Given the description of an element on the screen output the (x, y) to click on. 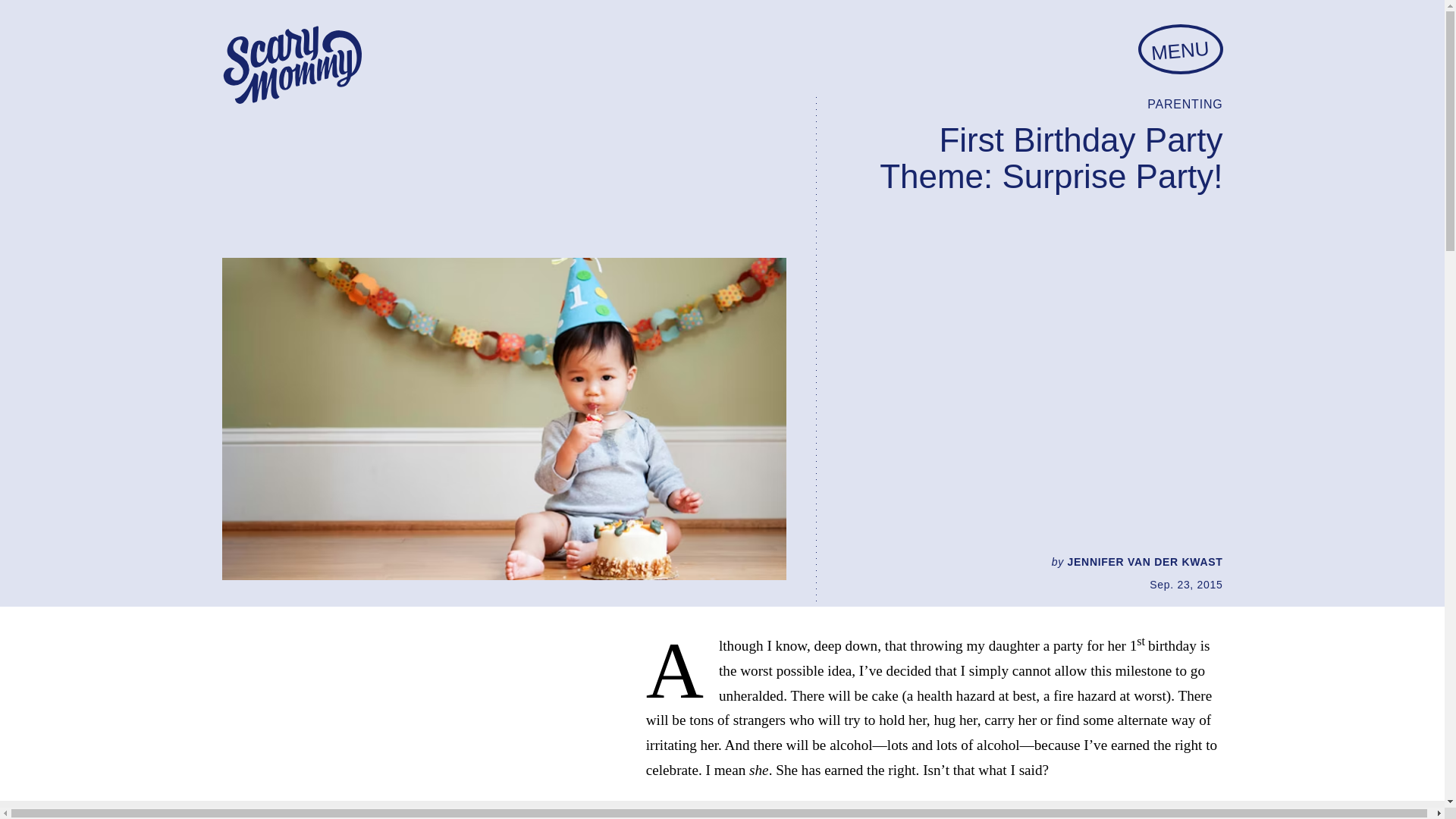
Scary Mommy (291, 64)
